Given the description of an element on the screen output the (x, y) to click on. 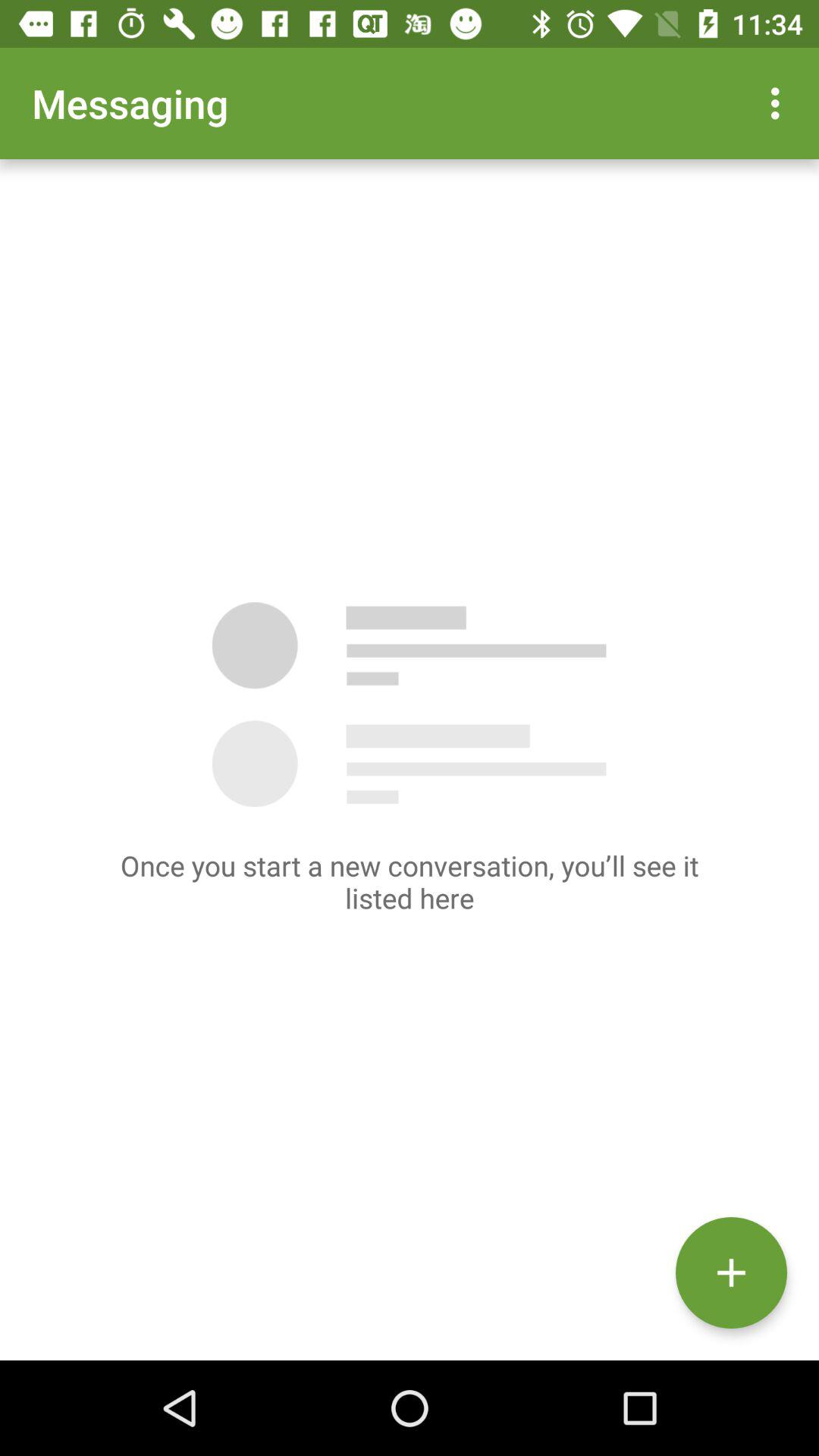
turn on icon at the top right corner (779, 103)
